Given the description of an element on the screen output the (x, y) to click on. 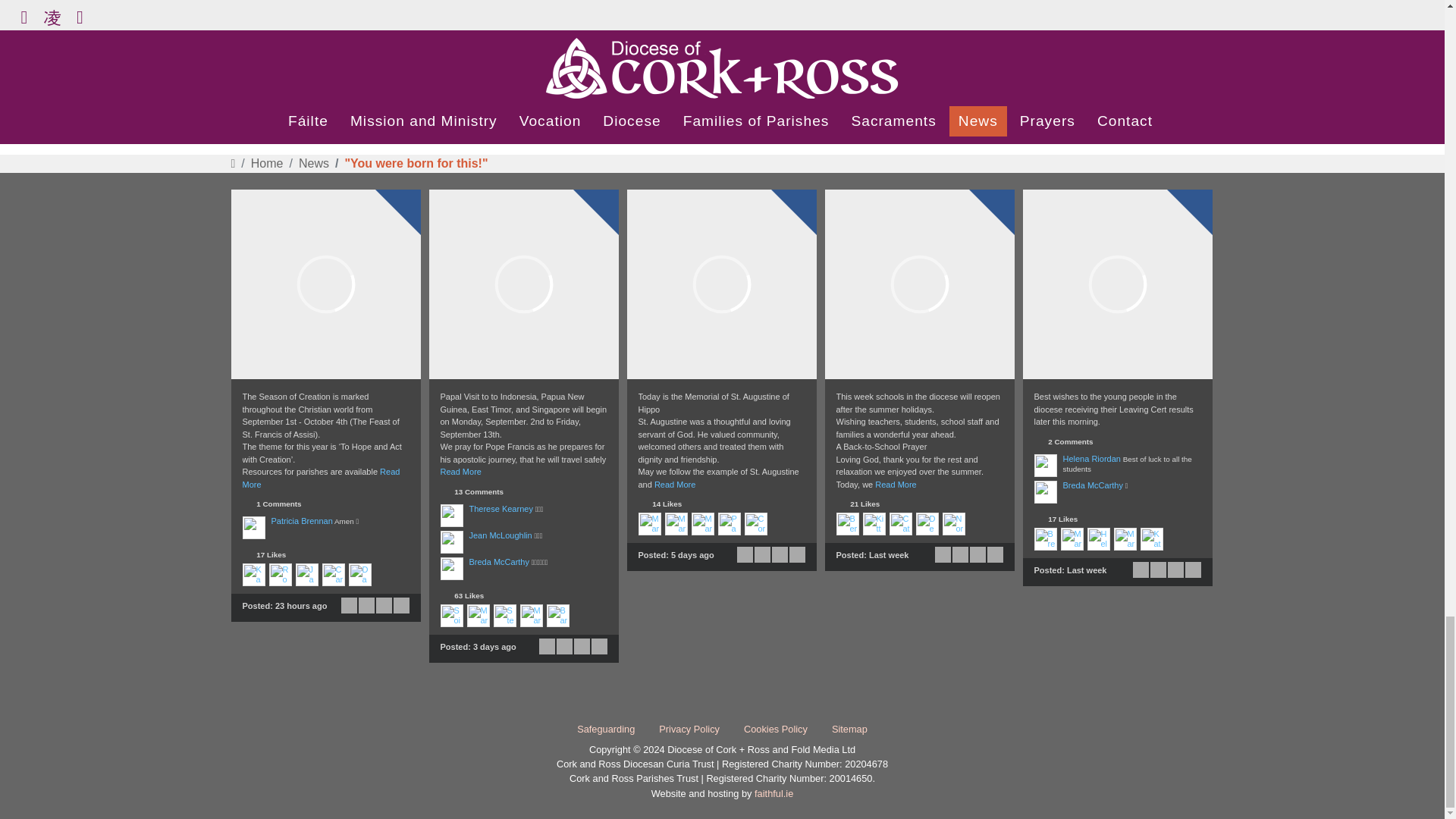
Rose O Connell (279, 574)
Kay O'Neill Murray (253, 574)
